Given the description of an element on the screen output the (x, y) to click on. 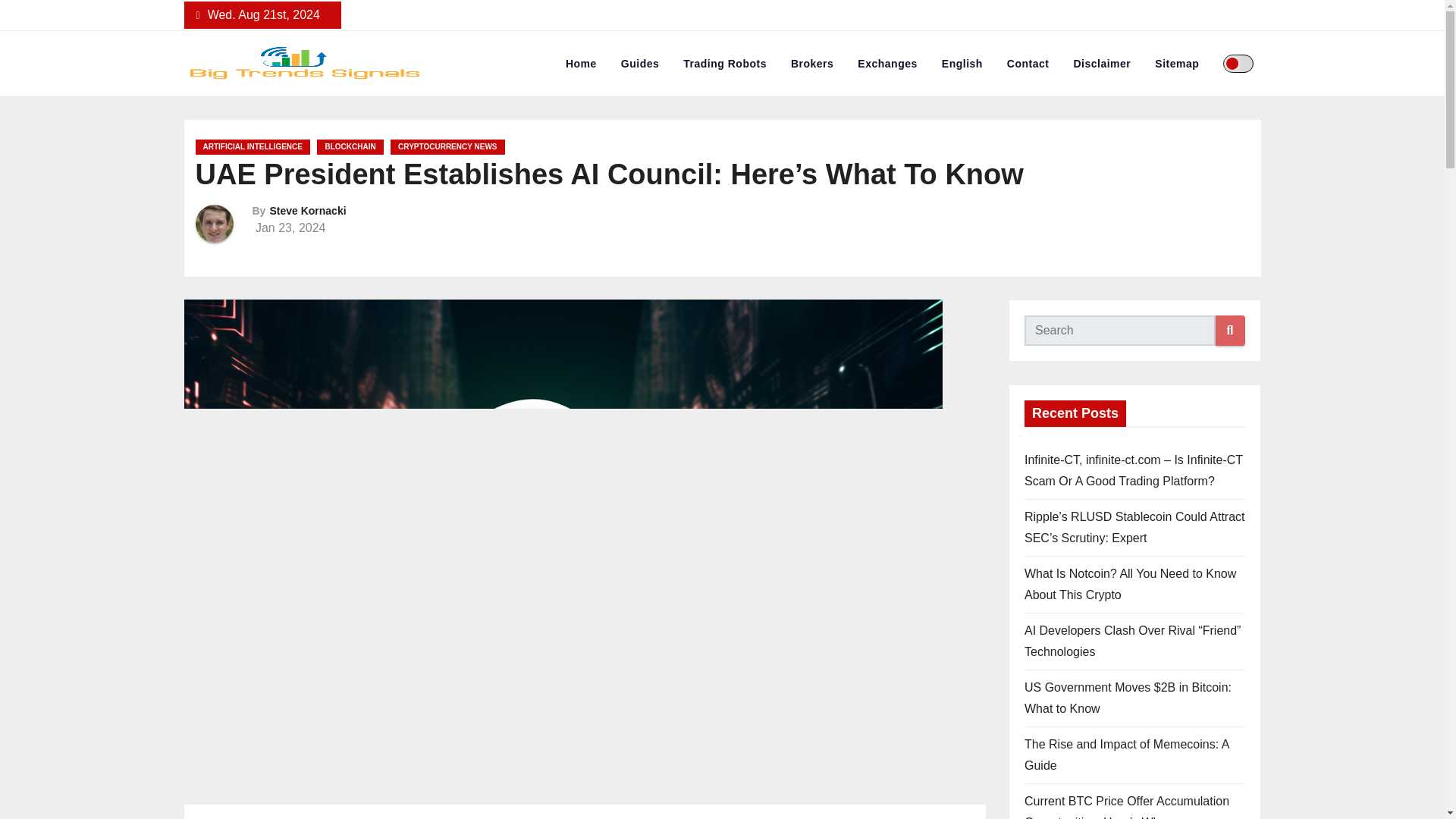
English (962, 63)
ARTIFICIAL INTELLIGENCE (252, 146)
Steve Kornacki (307, 210)
Sitemap (1176, 63)
Disclaimer (1101, 63)
Trading Robots (724, 63)
BLOCKCHAIN (349, 146)
Trading Robots (724, 63)
Guides (639, 63)
Exchanges (886, 63)
